Given the description of an element on the screen output the (x, y) to click on. 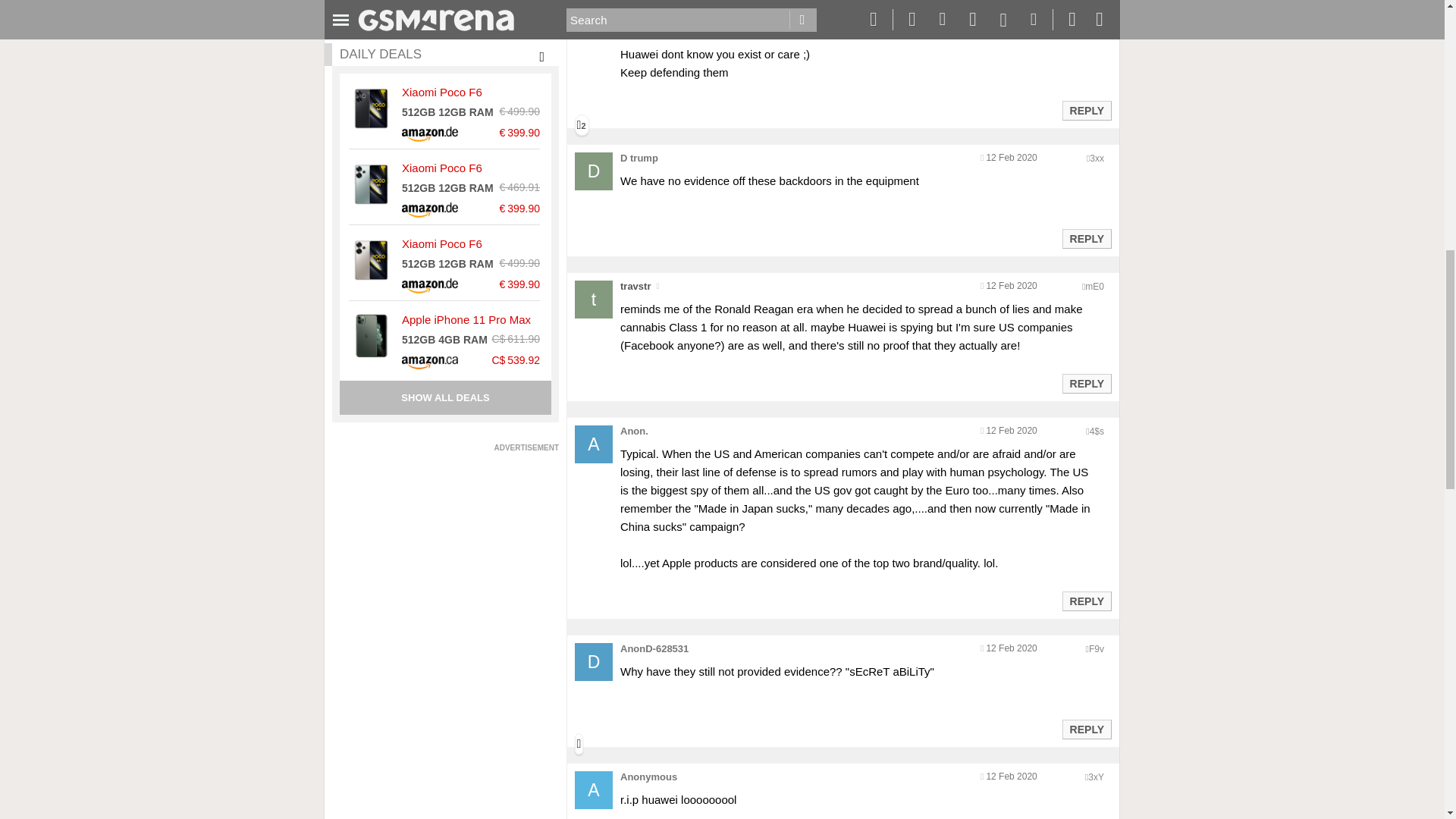
Reply to this post (1086, 110)
Reply to this post (1086, 729)
Encoded anonymized location (1096, 430)
Reply to this post (1086, 238)
Reply to this post (1086, 601)
Encoded anonymized location (1096, 158)
Encoded anonymized location (1096, 648)
Reply to this post (1086, 383)
Encoded anonymized location (1093, 286)
Encoded anonymized location (1095, 777)
